Given the description of an element on the screen output the (x, y) to click on. 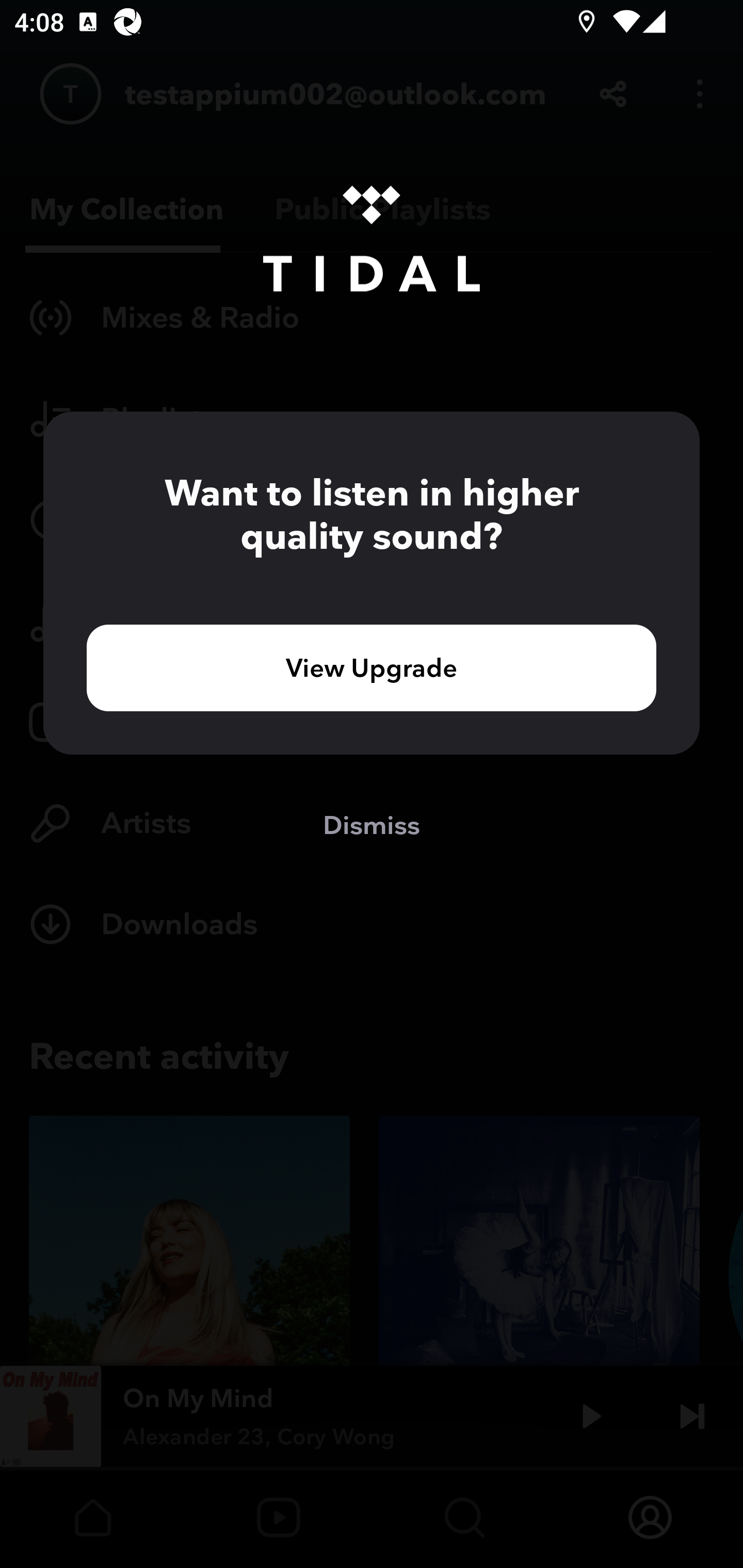
View Upgrade (371, 667)
Dismiss (371, 824)
